Given the description of an element on the screen output the (x, y) to click on. 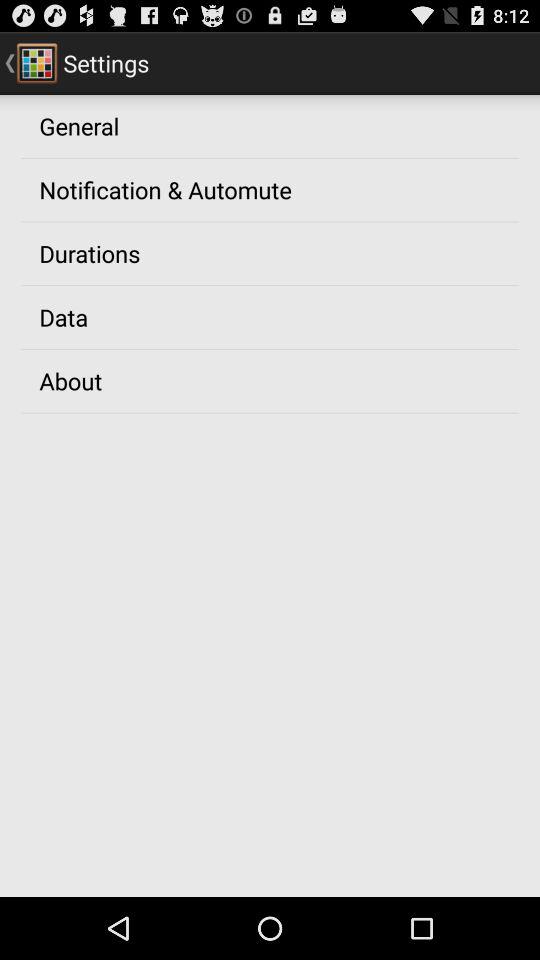
tap the notification & automute (165, 189)
